Given the description of an element on the screen output the (x, y) to click on. 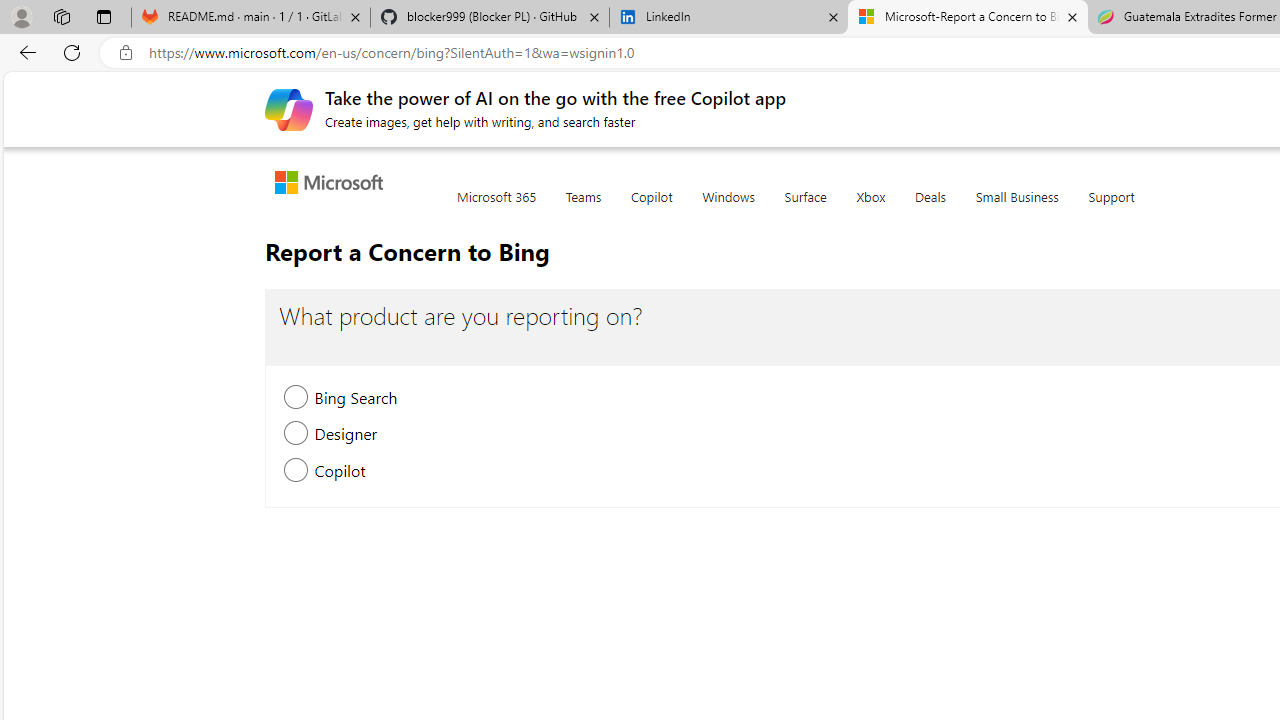
Deals (930, 208)
Copilot (651, 207)
Xbox (870, 208)
Small Business (1016, 208)
Designer, new section will be expanded (296, 435)
Create images, get help with writing, and search faster (288, 108)
Deals (930, 207)
Windows (728, 208)
Xbox (870, 207)
